Given the description of an element on the screen output the (x, y) to click on. 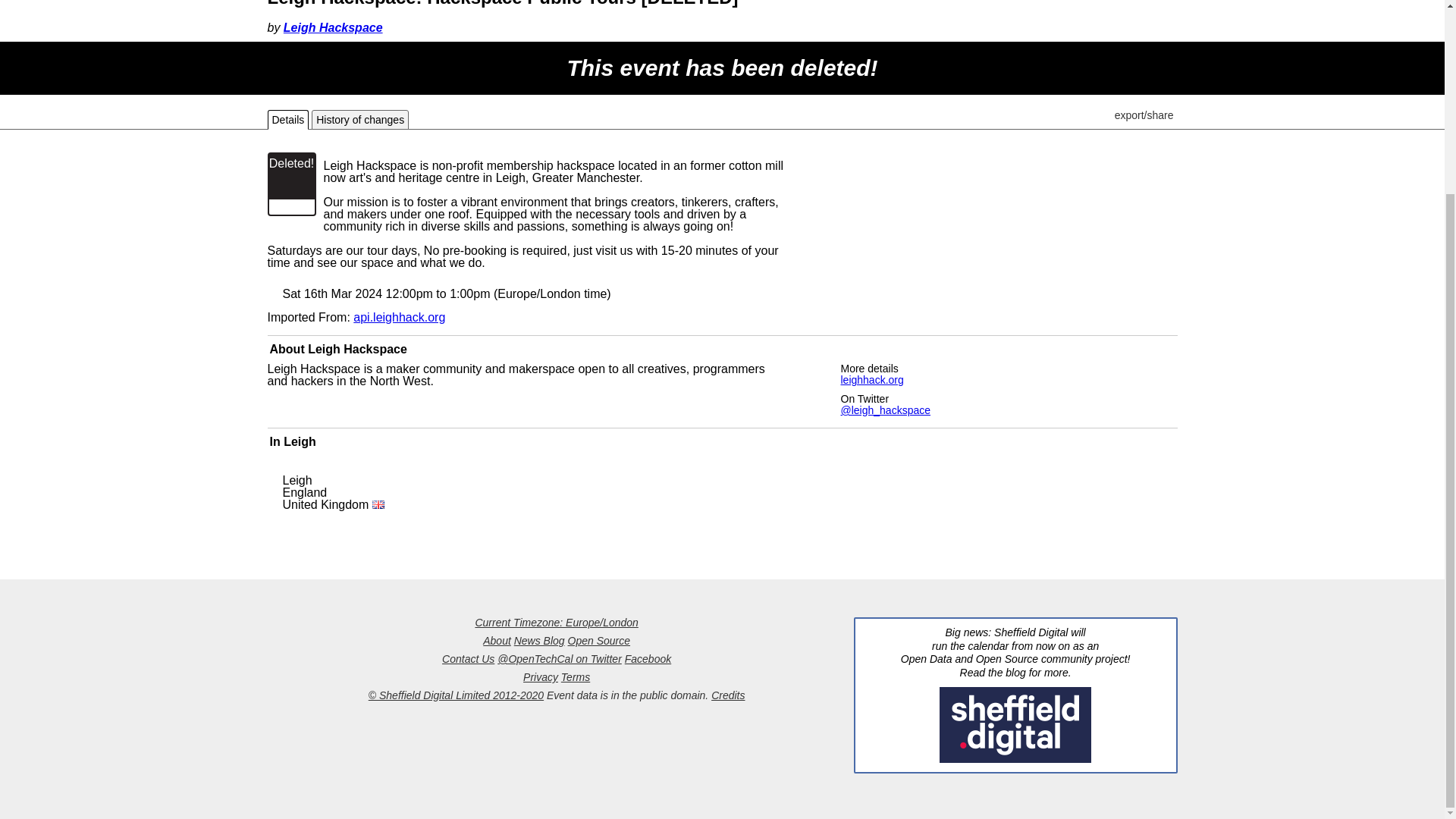
Leigh Hackspace (332, 27)
History of changes (359, 119)
Leigh (299, 440)
About (497, 640)
leighhack.org (871, 379)
Details (287, 119)
api.leighhack.org (399, 317)
England (304, 492)
United Kingdom (333, 504)
Leigh Hackspace (357, 349)
News Blog (538, 640)
Contact Us (468, 658)
Open Source (598, 640)
Leigh (296, 480)
